Given the description of an element on the screen output the (x, y) to click on. 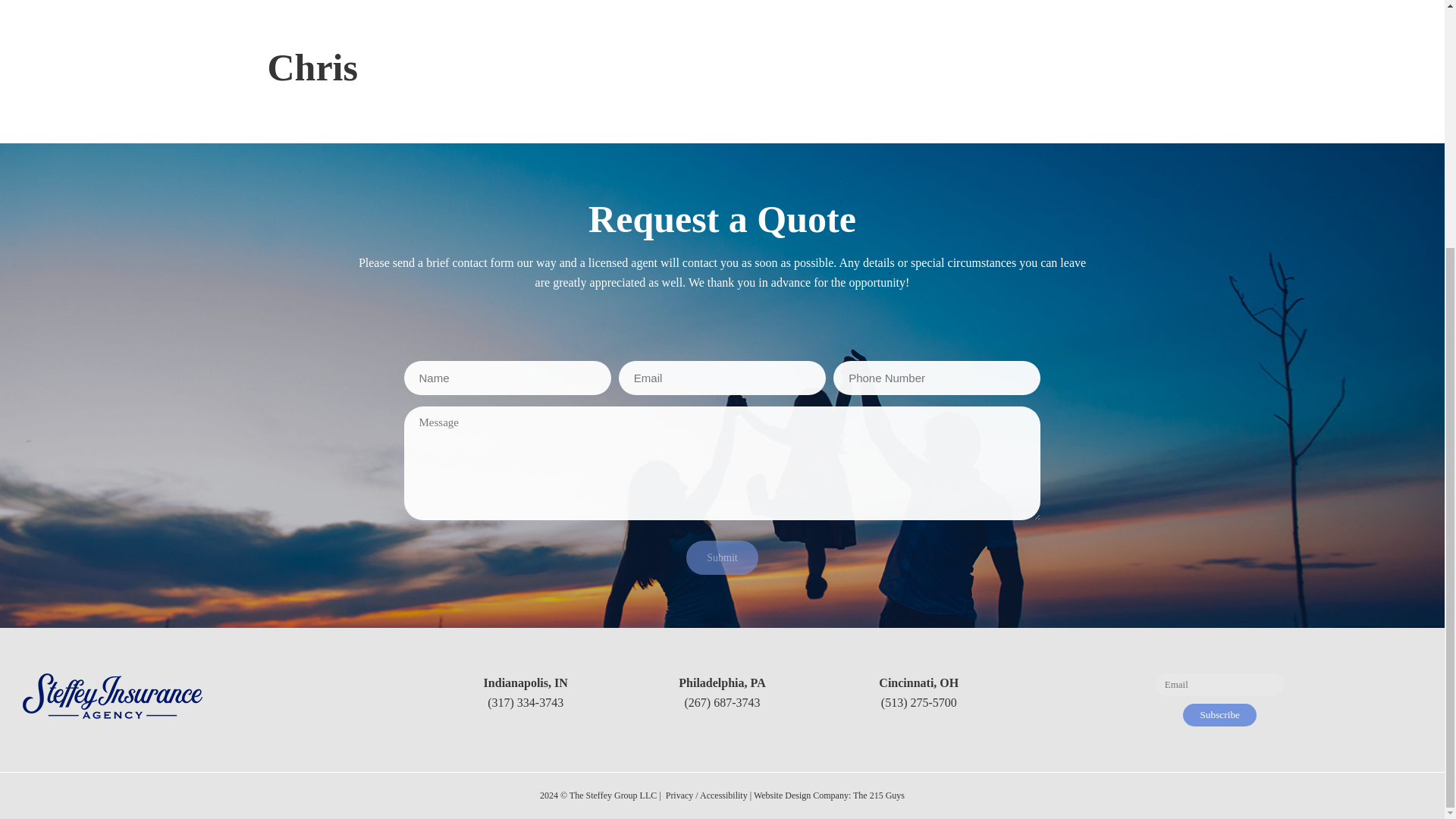
Subscribe (1219, 714)
Submit (721, 557)
